Given the description of an element on the screen output the (x, y) to click on. 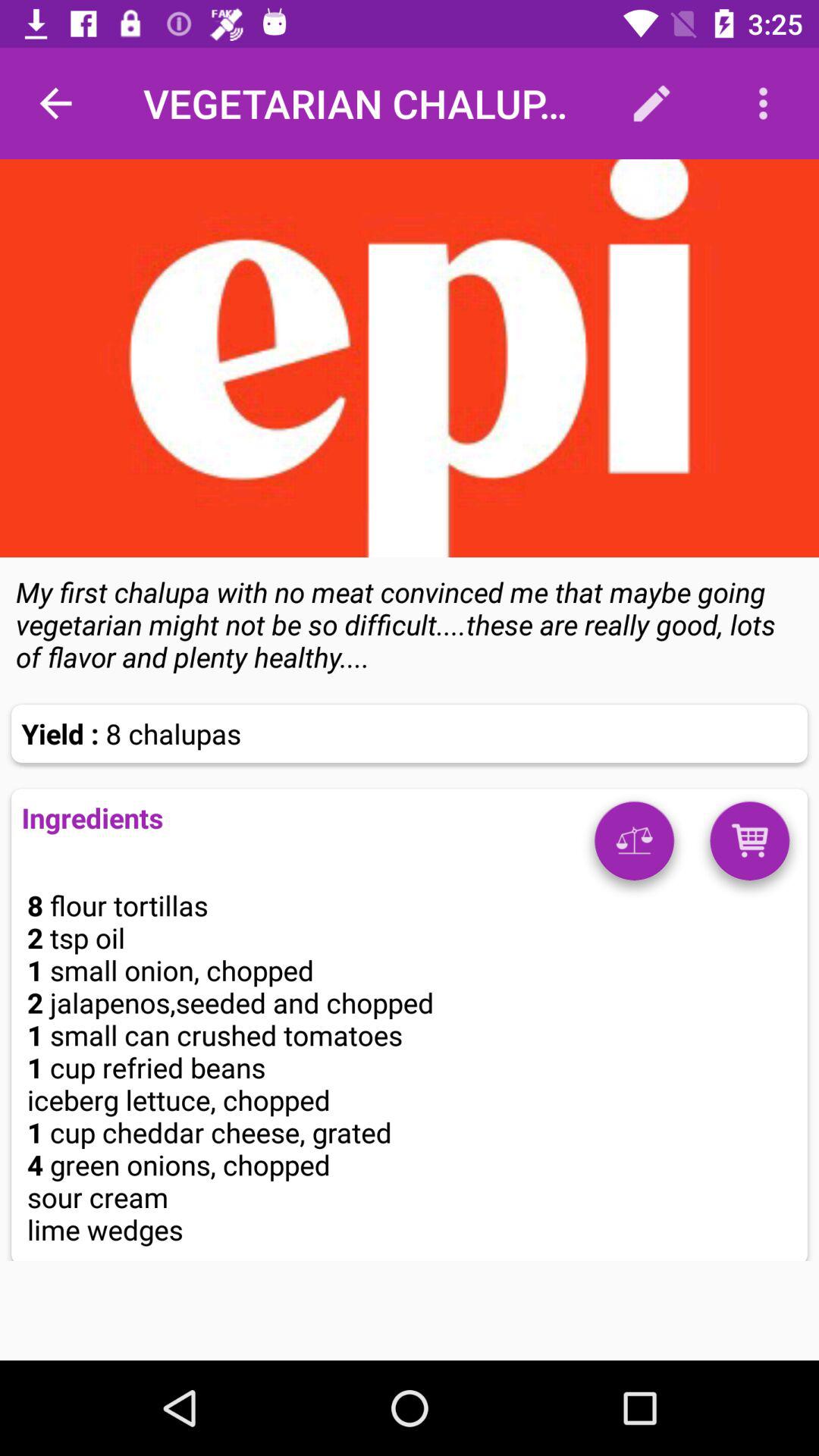
launch the icon below the my first chalupa item (634, 846)
